Given the description of an element on the screen output the (x, y) to click on. 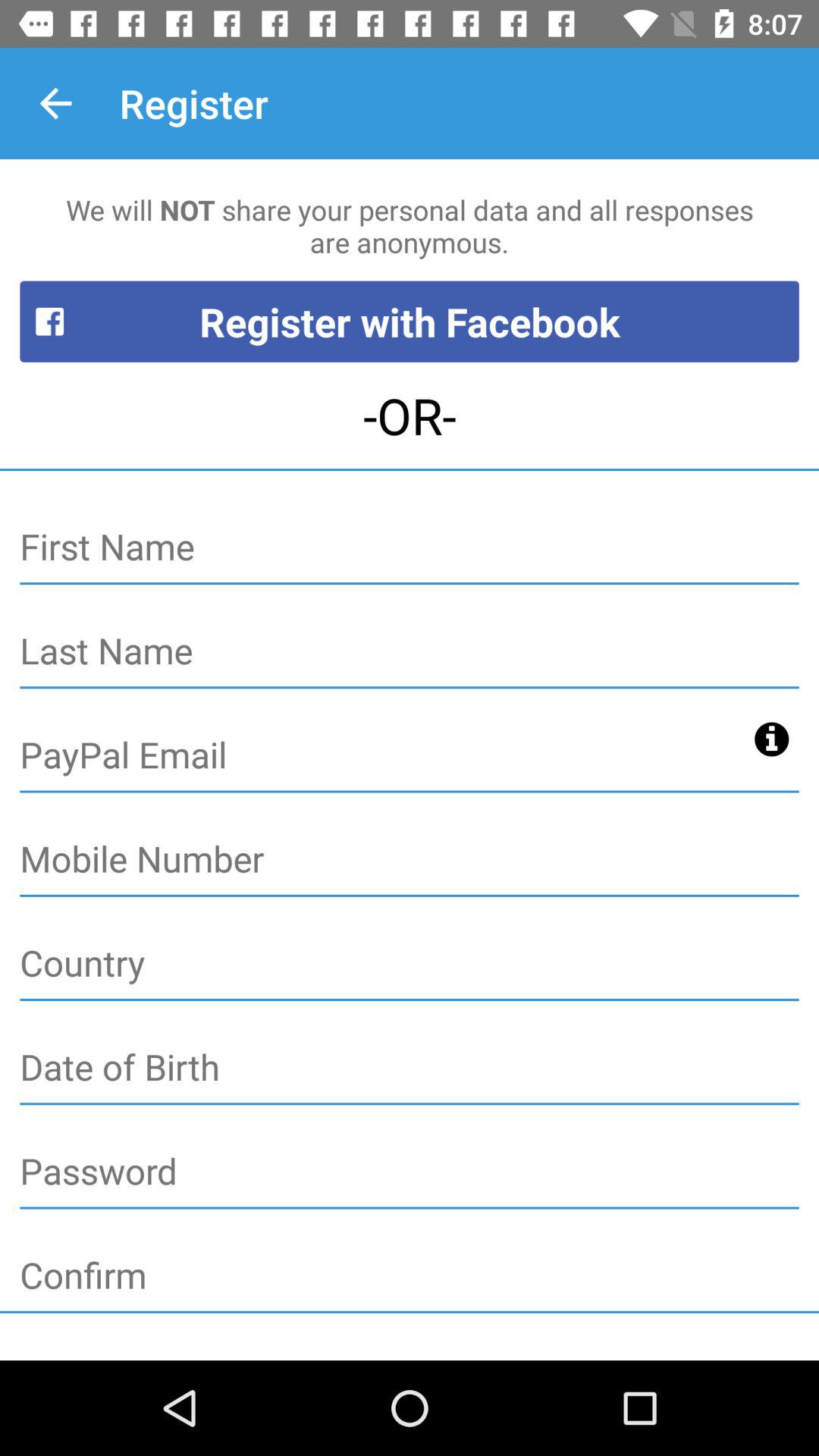
enter your mobile number (409, 860)
